Given the description of an element on the screen output the (x, y) to click on. 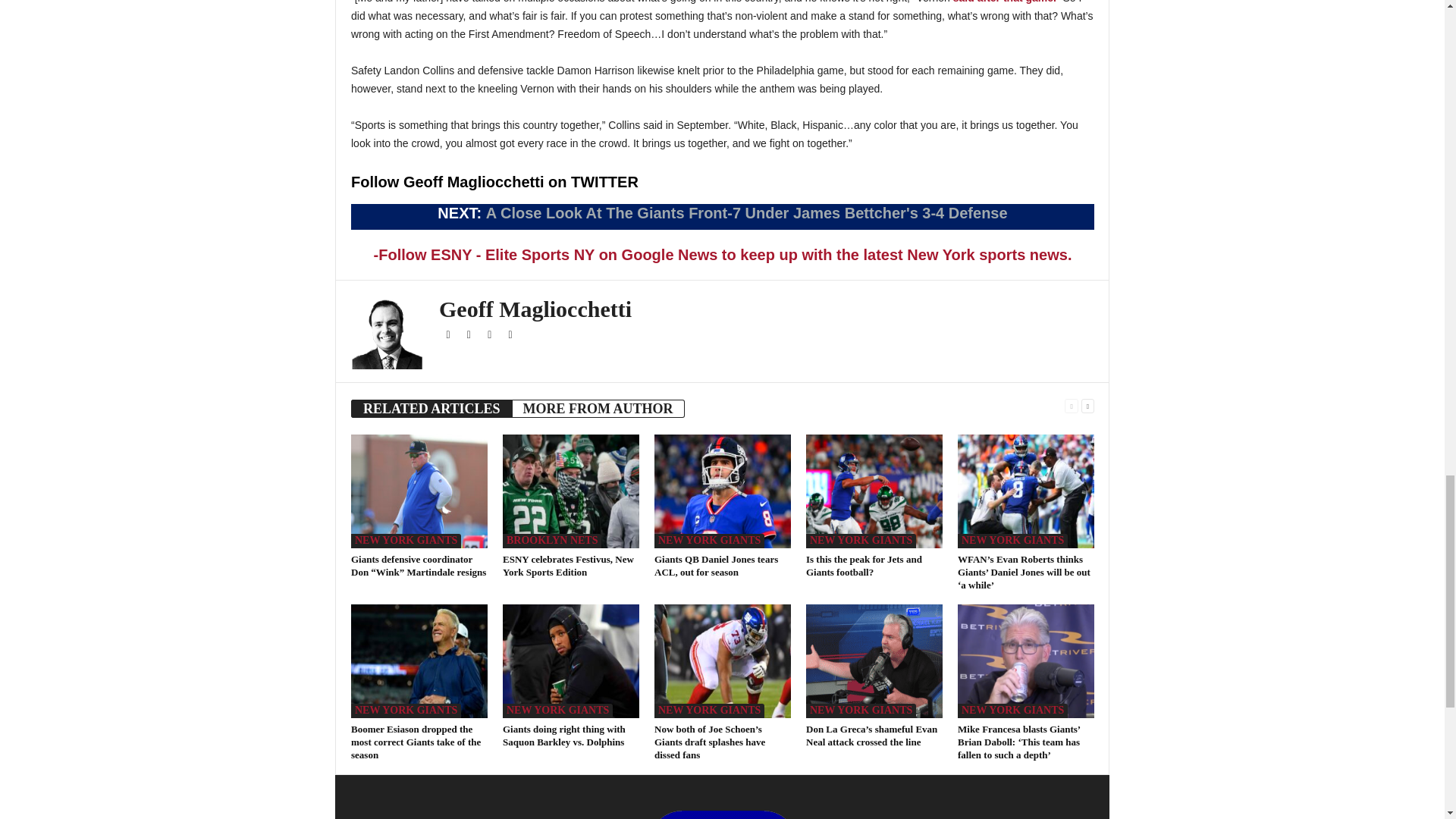
Linkedin (509, 335)
Twitter (470, 335)
Instagram (490, 335)
Facebook (449, 335)
